Given the description of an element on the screen output the (x, y) to click on. 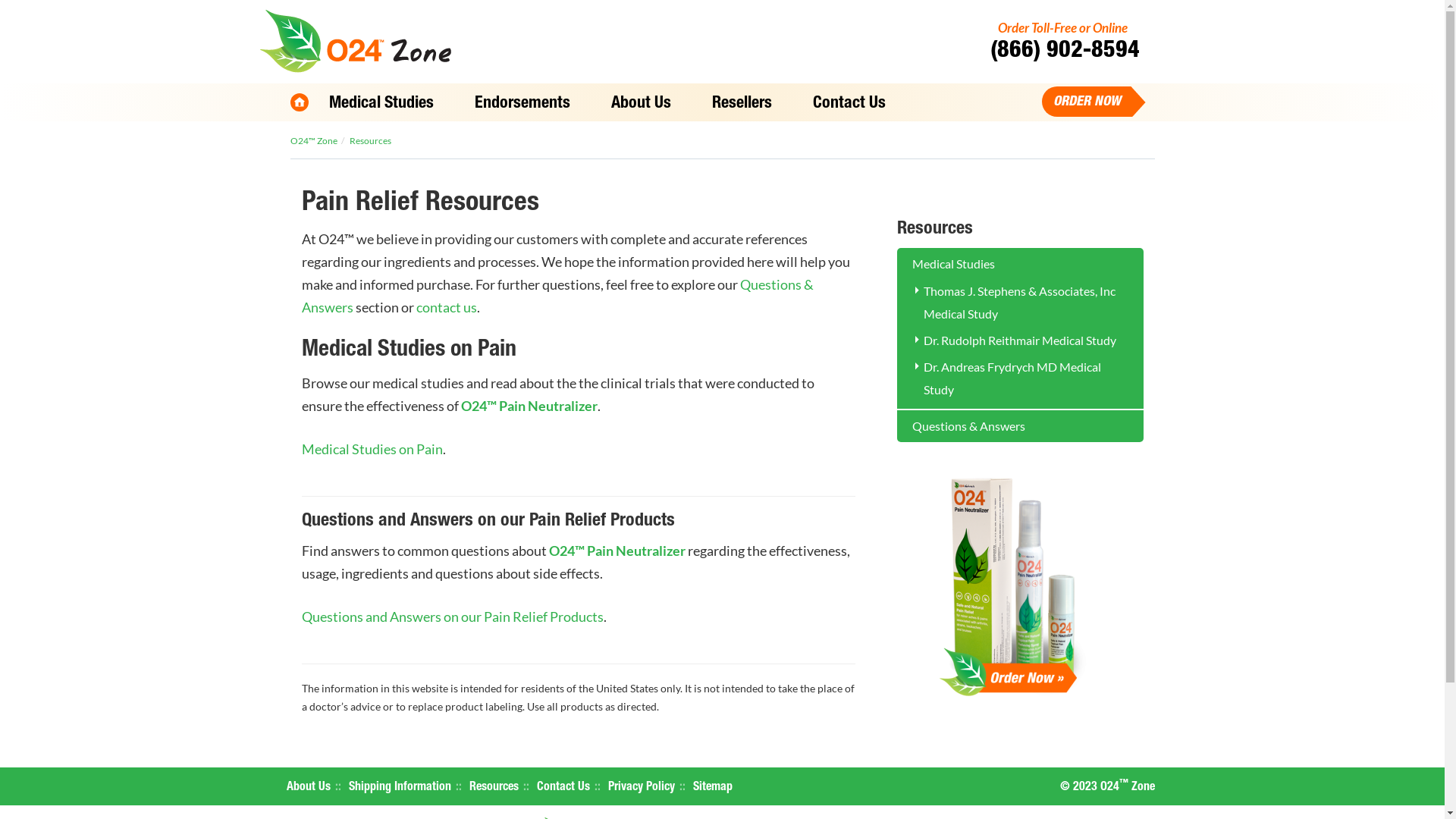
Thomas J. Stephens & Associates, Inc Medical Study Element type: text (1019, 301)
Medical Studies Element type: text (1019, 263)
About Us Element type: text (640, 104)
Medical Studies Element type: text (380, 104)
Home Element type: text (298, 102)
Resellers Element type: text (741, 104)
Sitemap Element type: text (712, 787)
Endorsements Element type: text (521, 104)
Medical Studies on Pain Element type: text (371, 448)
Contact Us Element type: text (562, 787)
Resources Element type: text (369, 140)
Questions and Answers on our Pain Relief Products Element type: text (452, 616)
Privacy Policy Element type: text (641, 787)
Dr. Andreas Frydrych MD Medical Study Element type: text (1012, 377)
Shipping Information Element type: text (399, 787)
Resources Element type: text (492, 787)
ORDER NOW Element type: text (1082, 101)
Contact Us Element type: text (848, 104)
About Us Element type: text (308, 787)
Questions & Answers Element type: text (1019, 426)
Questions & Answers Element type: text (557, 295)
contact us Element type: text (445, 306)
Dr. Rudolph Reithmair Medical Study Element type: text (1019, 339)
